Given the description of an element on the screen output the (x, y) to click on. 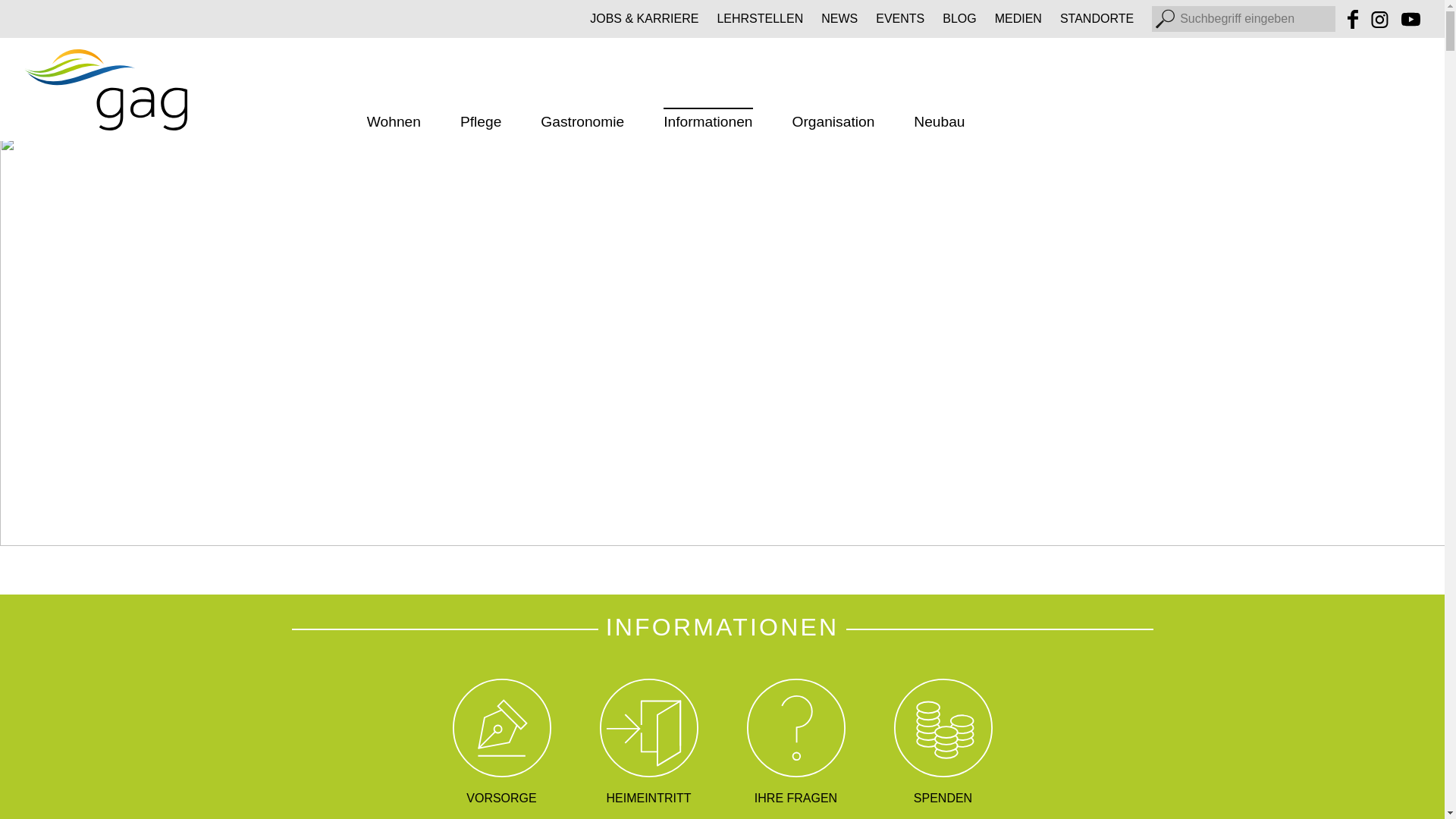
Organisation Element type: text (833, 123)
EVENTS Element type: text (899, 18)
SPENDEN Element type: text (942, 742)
Gastronomie Element type: text (582, 123)
Informationen Element type: text (707, 123)
MEDIEN Element type: text (1017, 18)
IHRE FRAGEN Element type: text (795, 742)
HEIMEINTRITT Element type: text (648, 742)
Wohnen Element type: text (393, 123)
LEHRSTELLEN Element type: text (759, 18)
VORSORGE Element type: text (500, 742)
Pflege Element type: text (480, 123)
JOBS & KARRIERE Element type: text (643, 18)
NEWS Element type: text (839, 18)
BLOG Element type: text (958, 18)
STANDORTE Element type: text (1096, 18)
Neubau Element type: text (938, 123)
